Given the description of an element on the screen output the (x, y) to click on. 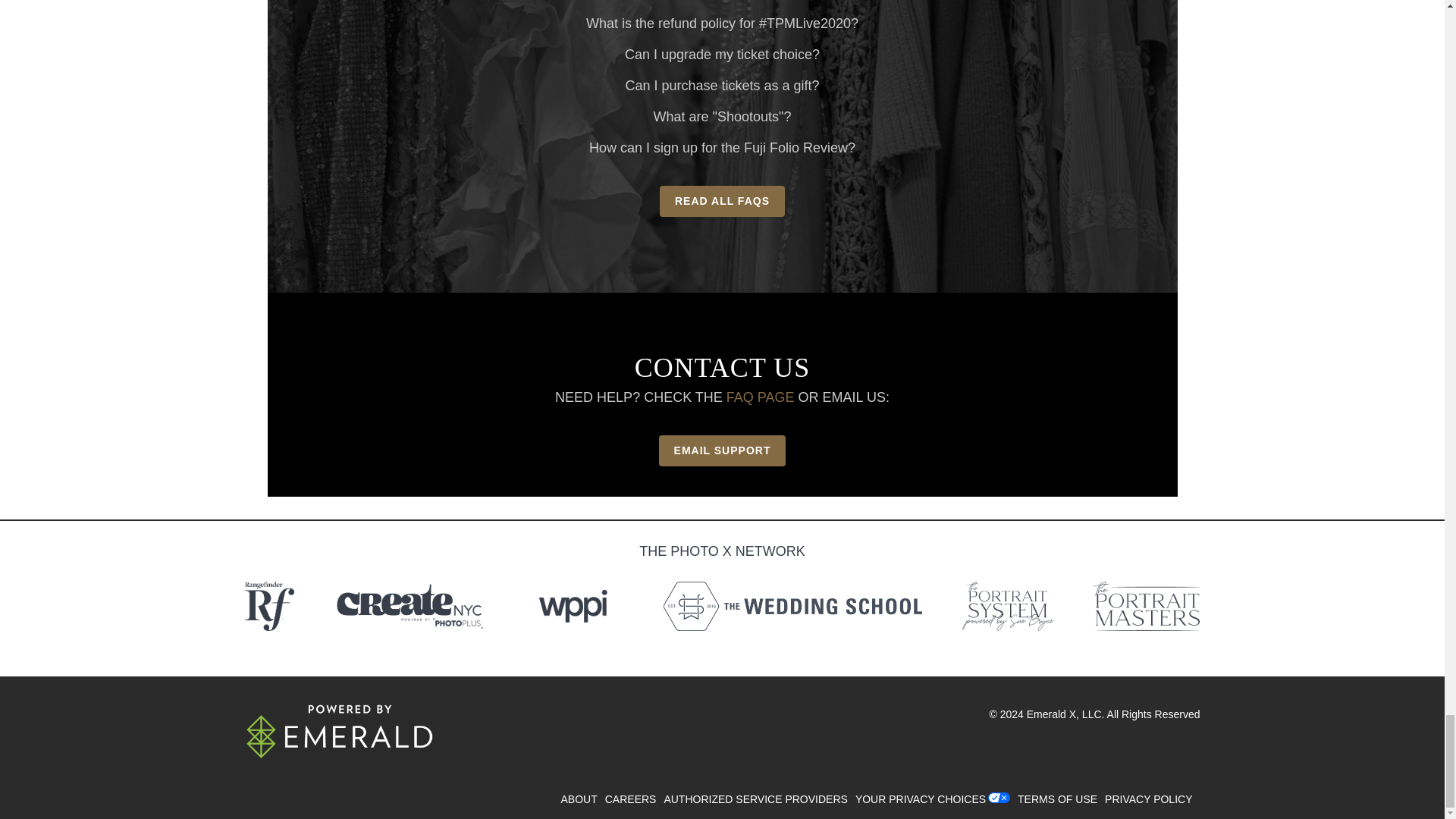
privacy-policy (1152, 799)
about (582, 799)
your-privacy-choices (924, 799)
authorized-service-providers (758, 799)
careers (634, 799)
terms-of-use (1061, 799)
